Given the description of an element on the screen output the (x, y) to click on. 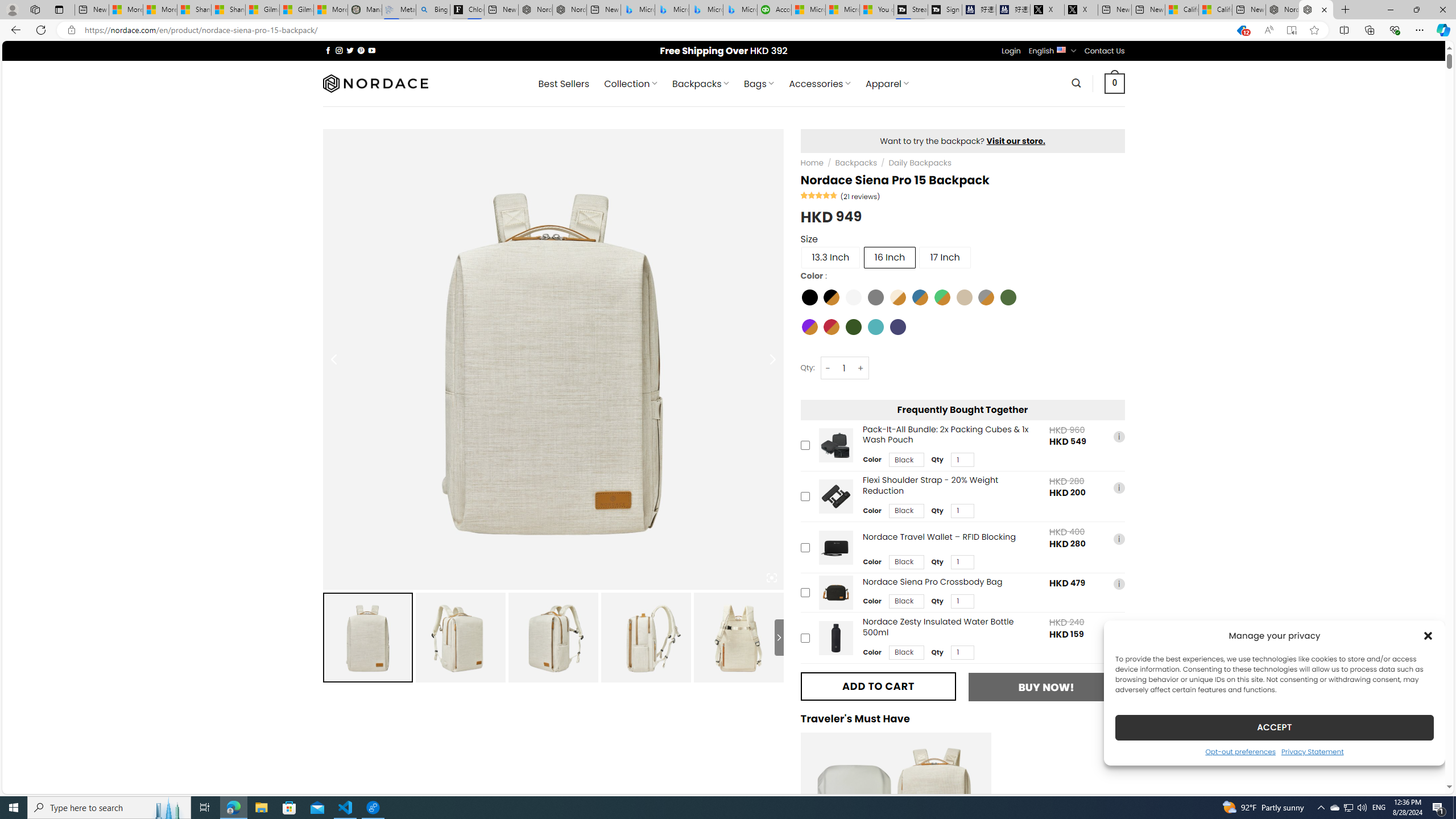
  0   (1115, 83)
Manatee Mortality Statistics | FWC (365, 9)
Nordace Siena Pro Crossbody Bag (835, 592)
(21 reviews) (860, 196)
Nordace Siena Pro 15 Backpack (738, 637)
Class: upsell-v2-product-upsell-variable-product-qty-select (962, 652)
Microsoft Bing Travel - Stays in Bangkok, Bangkok, Thailand (671, 9)
Visit our store. (1015, 140)
- (827, 368)
